Given the description of an element on the screen output the (x, y) to click on. 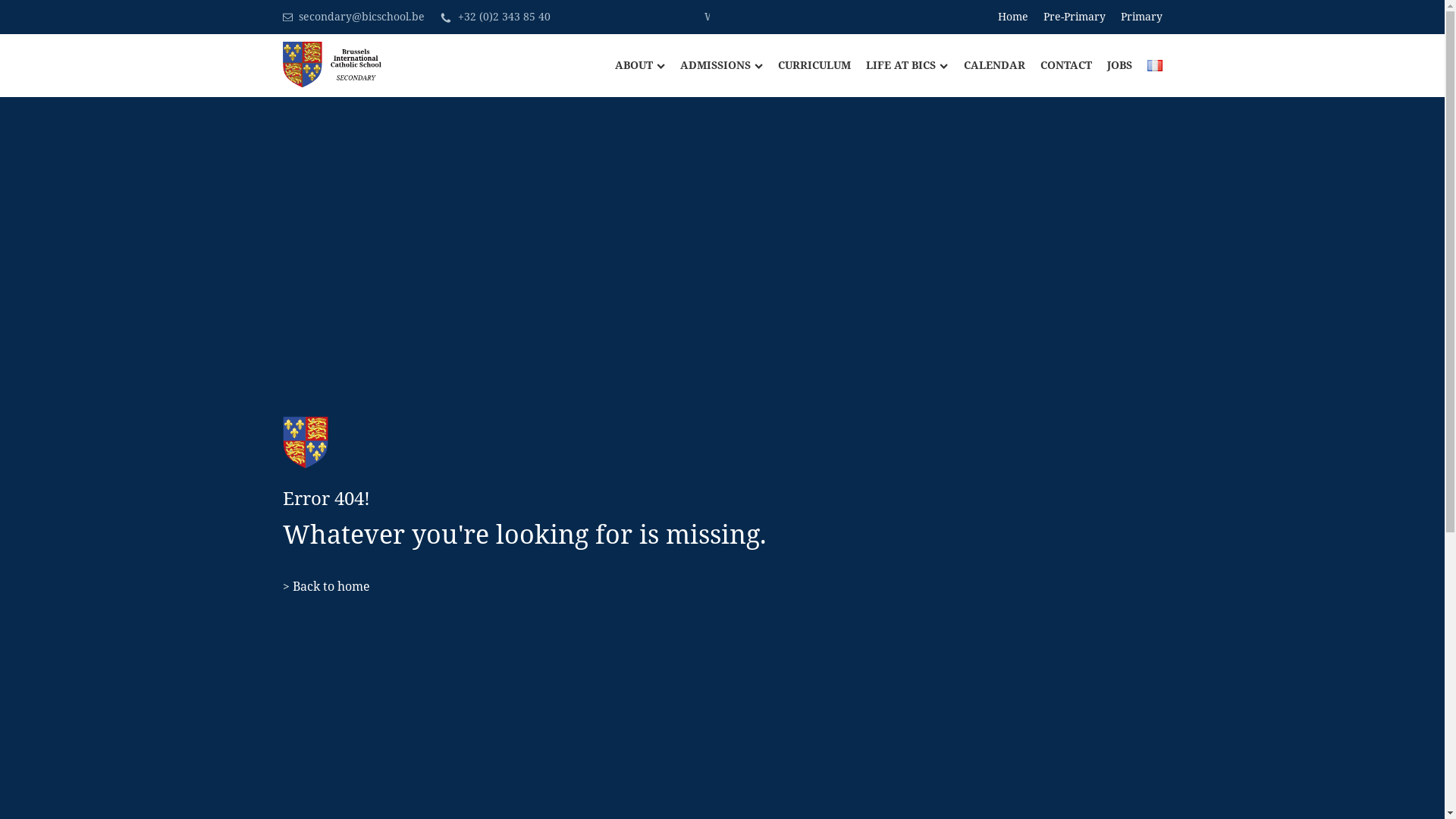
Pre-Primary Element type: text (1074, 16)
ABOUT Element type: text (632, 65)
CALENDAR Element type: text (985, 65)
ADMISSIONS Element type: text (713, 65)
secondary@bicschool.be Element type: text (361, 16)
Home Element type: text (1012, 16)
CURRICULUM Element type: text (806, 65)
CONTACT Element type: text (1058, 65)
> Back to home Element type: text (325, 586)
Primary Element type: text (1141, 16)
LIFE AT BICS Element type: text (898, 65)
JOBS Element type: text (1112, 65)
